Given the description of an element on the screen output the (x, y) to click on. 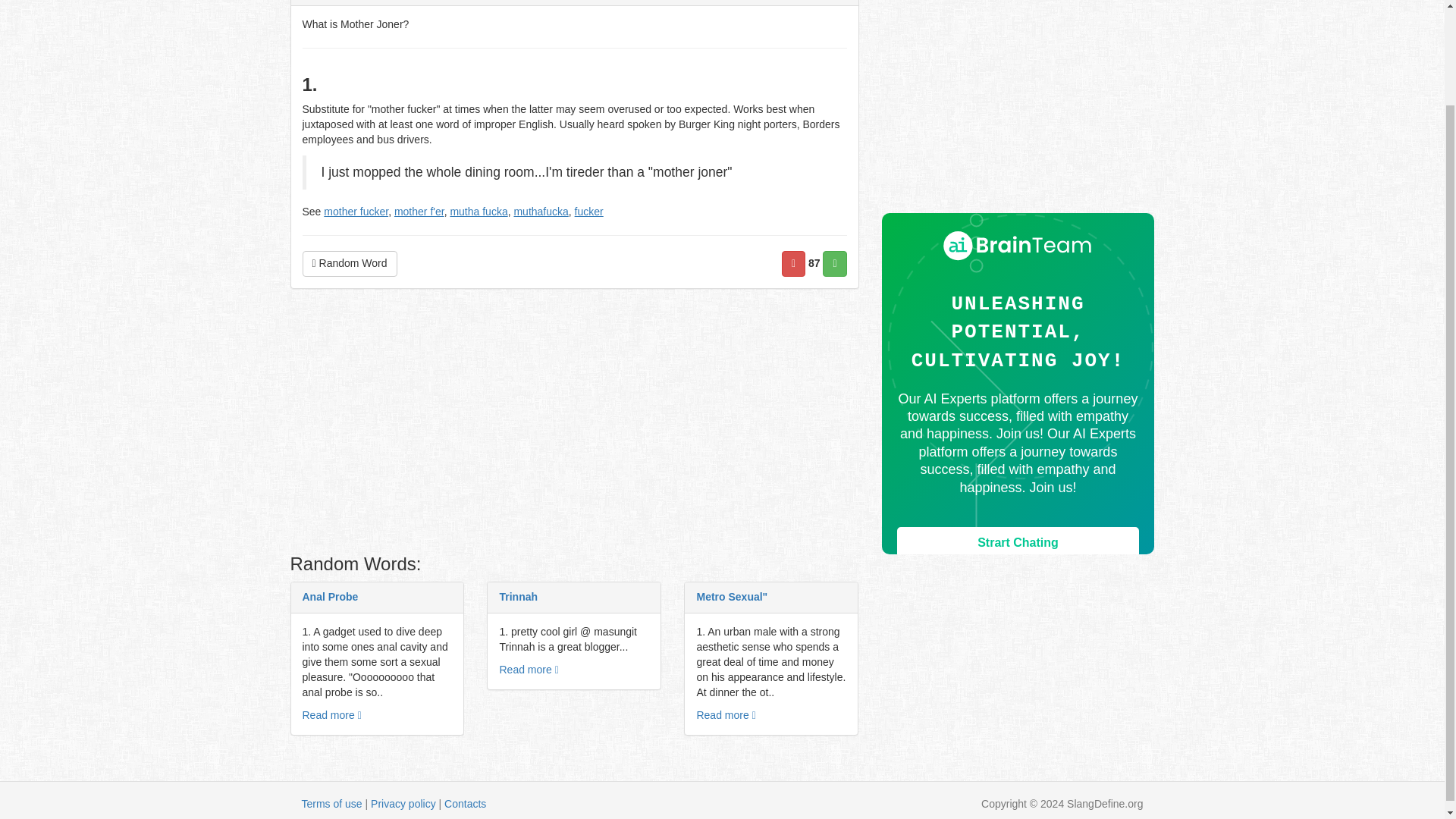
Trinnah (518, 596)
Advertisement (574, 425)
Random Word (348, 263)
Metro Sexual" (731, 596)
Privacy policy (403, 803)
Contacts (465, 803)
Advertisement (1017, 106)
Terms of use (331, 803)
Read more (528, 669)
Read more (331, 715)
Strart Chating (1017, 543)
Read more (725, 715)
Anal Probe (329, 596)
